Given the description of an element on the screen output the (x, y) to click on. 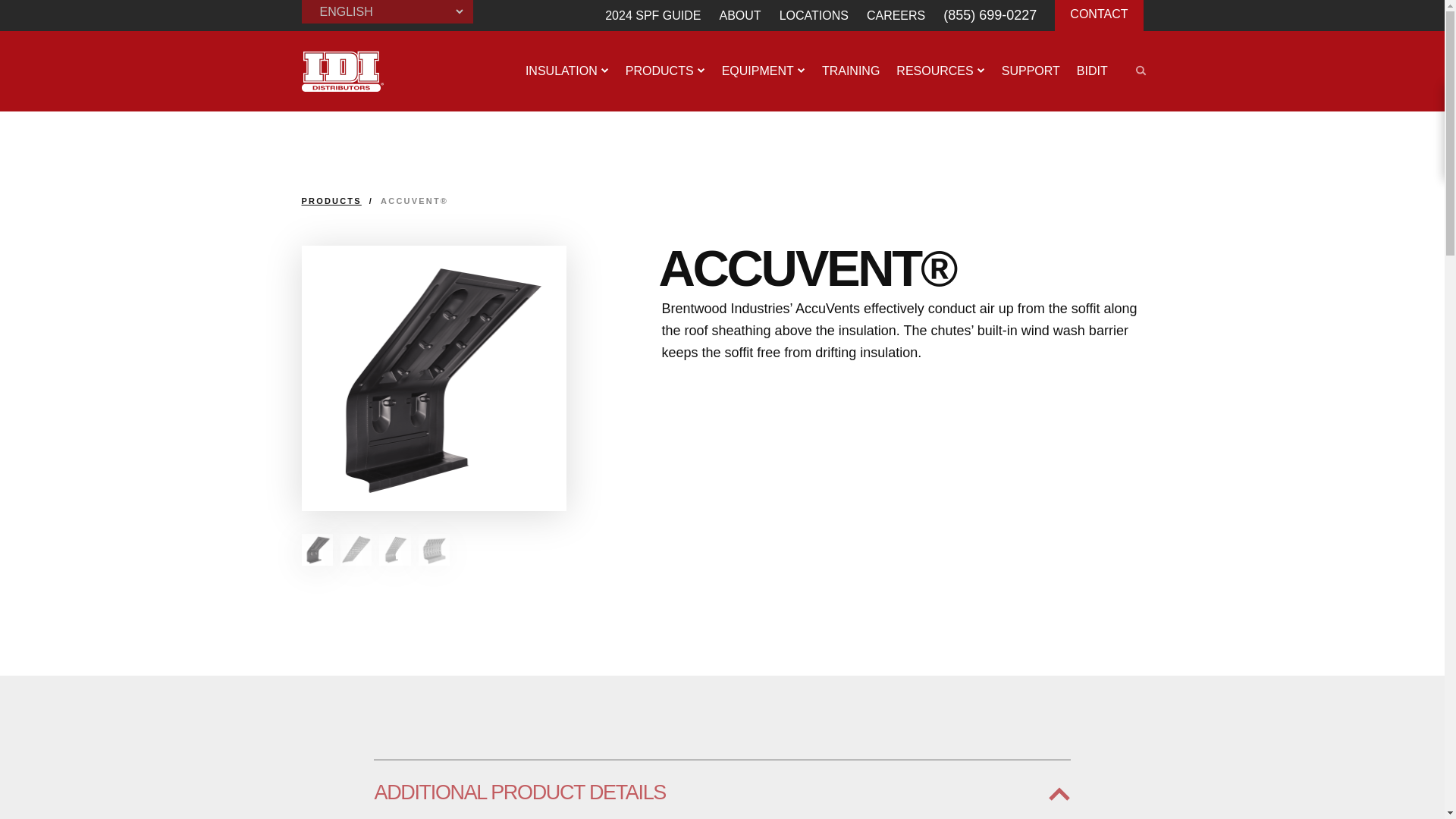
EQUIPMENT (763, 70)
ABOUT (739, 15)
INSULATION (566, 70)
CAREERS (895, 15)
PRODUCTS (665, 70)
2024 SPF GUIDE (652, 15)
LOCATIONS (813, 15)
CONTACT (1098, 13)
